Given the description of an element on the screen output the (x, y) to click on. 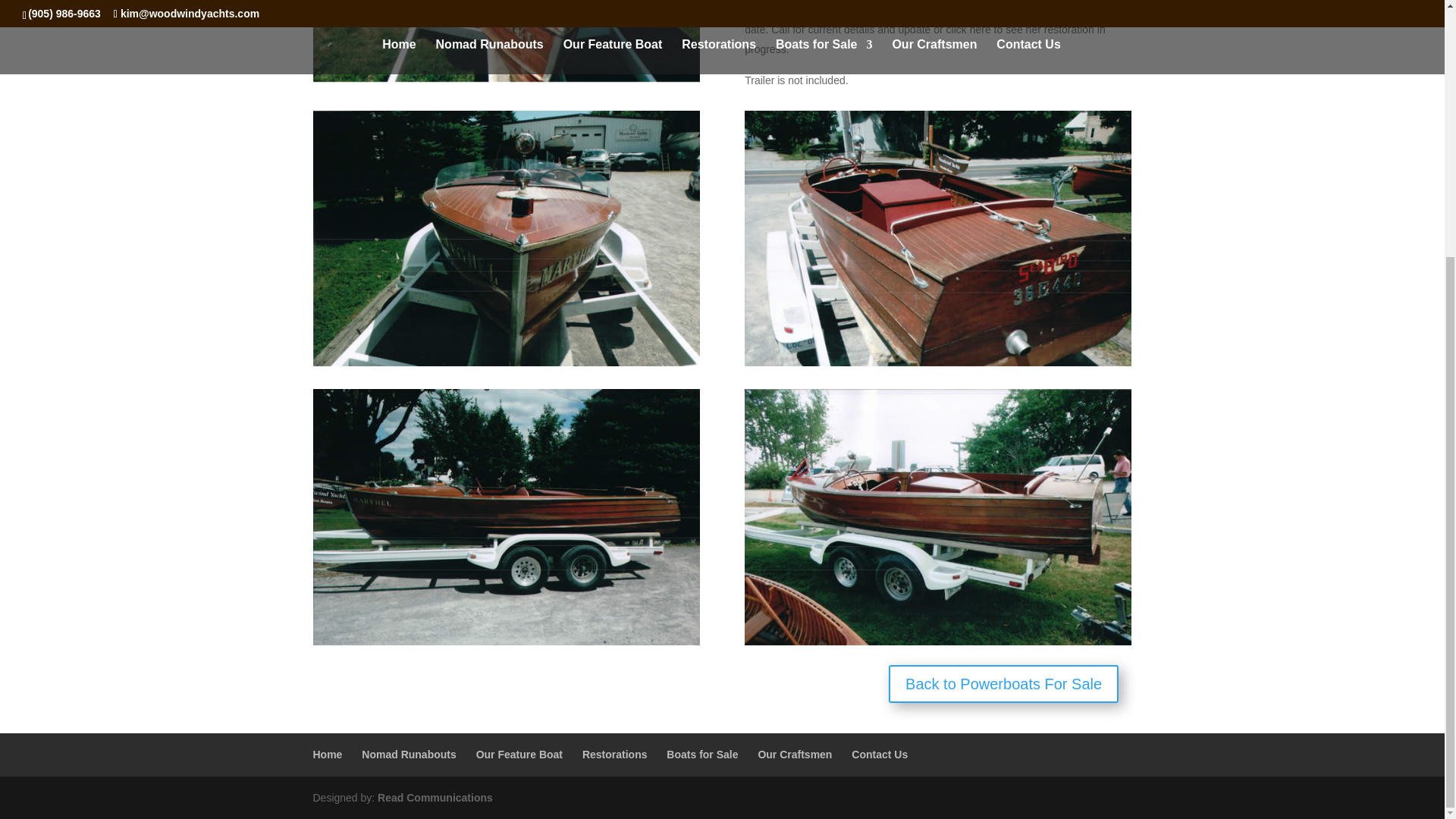
Our Feature Boat (519, 754)
Our Craftsmen (794, 754)
Restorations (614, 754)
Contact Us (879, 754)
Read Communications (435, 797)
Boats for Sale (702, 754)
Nomad Runabouts (408, 754)
Back to Powerboats For Sale (1003, 683)
Home (327, 754)
